Given the description of an element on the screen output the (x, y) to click on. 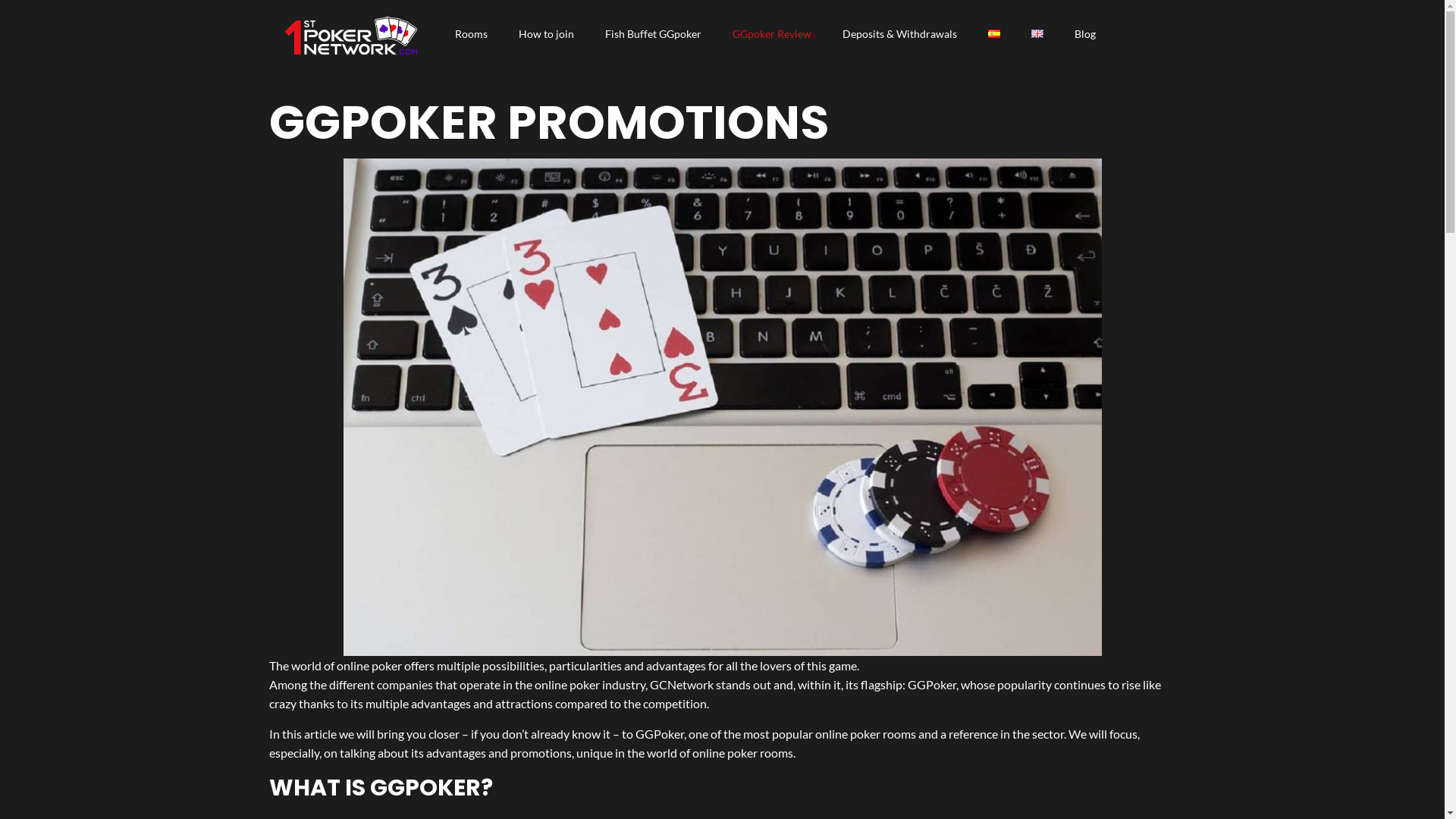
Rooms Element type: text (471, 34)
Deposits & Withdrawals Element type: text (899, 34)
GGpoker Review Element type: text (772, 34)
How to join Element type: text (546, 34)
Blog Element type: text (1084, 34)
Fish Buffet GGpoker Element type: text (653, 34)
1stPokerNetwork Element type: hover (350, 34)
